Given the description of an element on the screen output the (x, y) to click on. 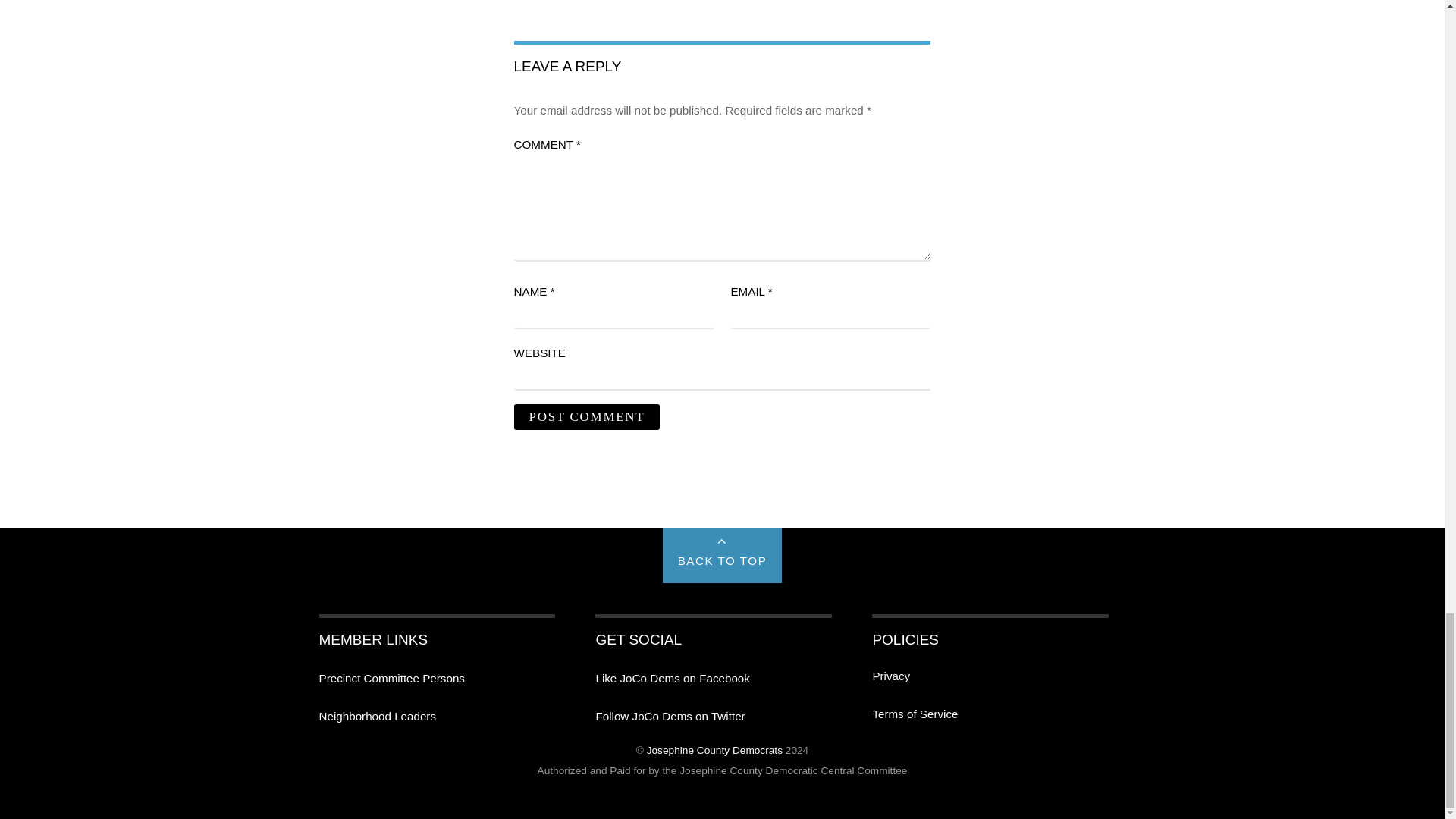
Post Comment (587, 416)
Like JoCo Dems on Facebook (672, 677)
BACK TO TOP (722, 555)
Neighborhood Leaders (376, 716)
Precinct Committee Persons (391, 677)
Post Comment (587, 416)
